Given the description of an element on the screen output the (x, y) to click on. 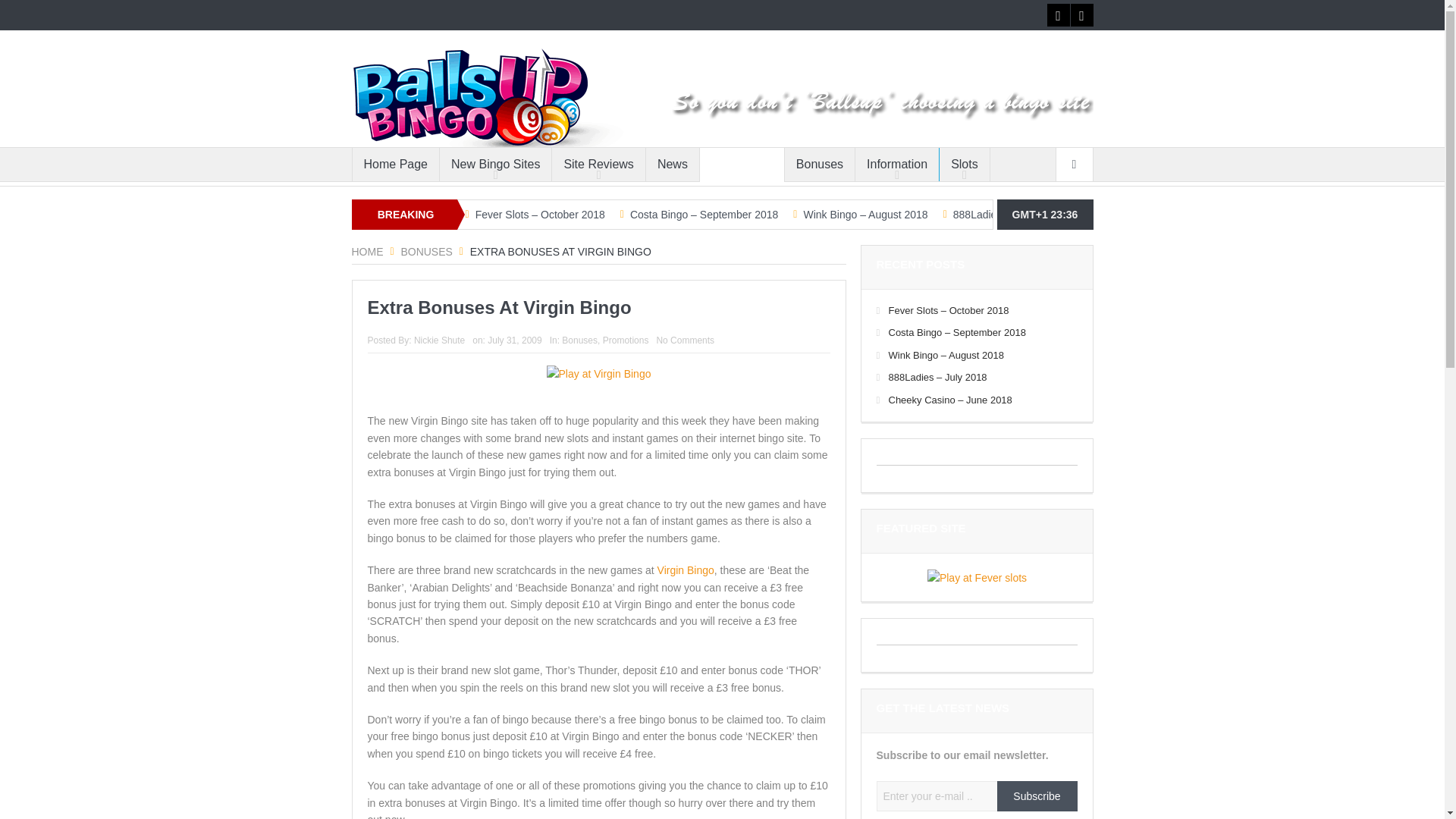
Virgin Bingo (686, 570)
Information (897, 164)
Promotions (742, 164)
New Bingo Sites (495, 164)
Home Page (395, 164)
Bonuses (425, 251)
View all posts in Bonuses (579, 339)
Site Reviews (598, 164)
Bonuses (819, 164)
News (672, 164)
